Given the description of an element on the screen output the (x, y) to click on. 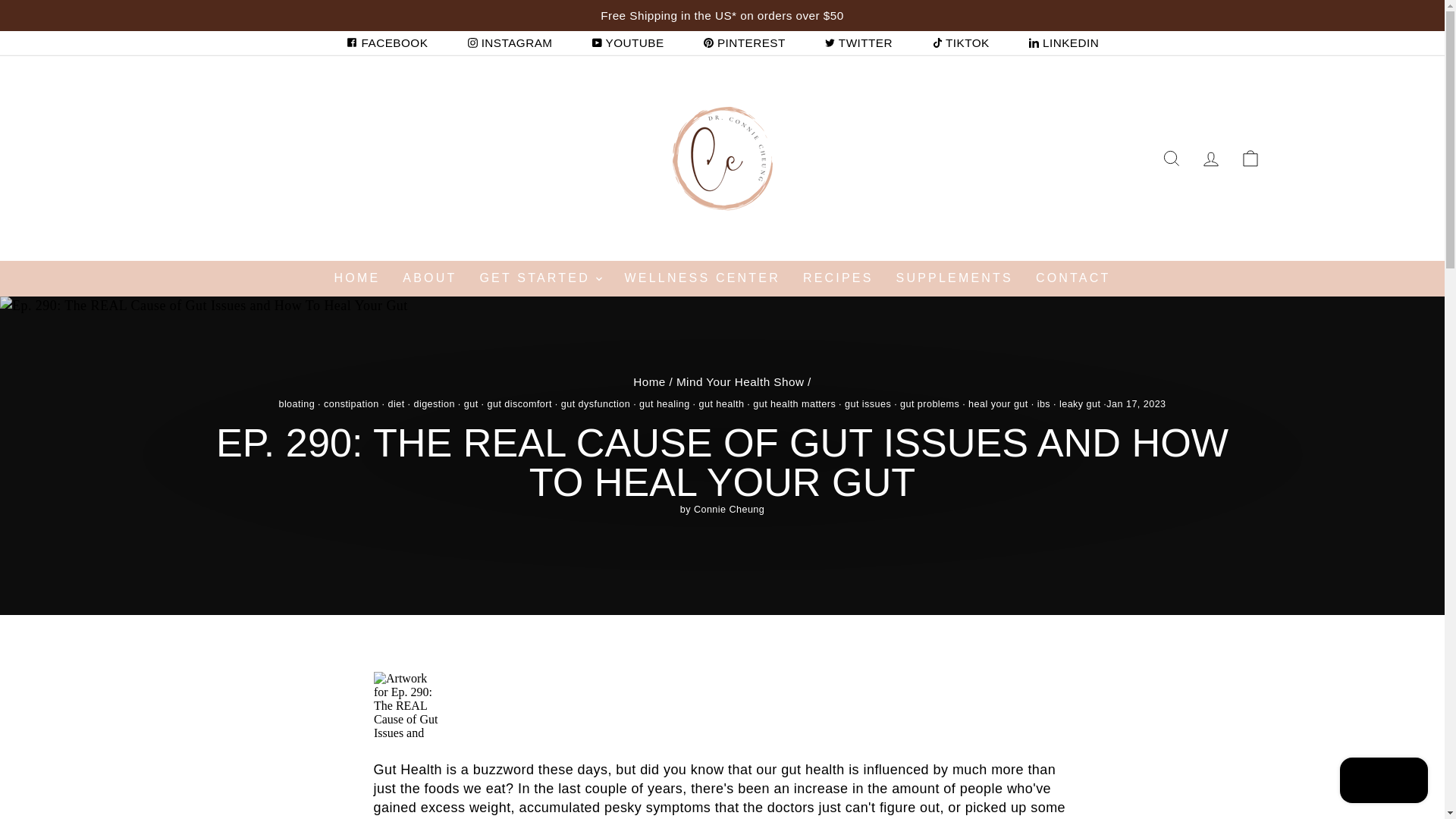
TWITTER (858, 42)
LOG IN (1210, 157)
LINKEDIN (1063, 42)
CART (1249, 157)
Libsyn Player (721, 705)
TIKTOK (960, 42)
YOUTUBE (628, 42)
SEARCH (1171, 157)
PINTEREST (744, 42)
